Given the description of an element on the screen output the (x, y) to click on. 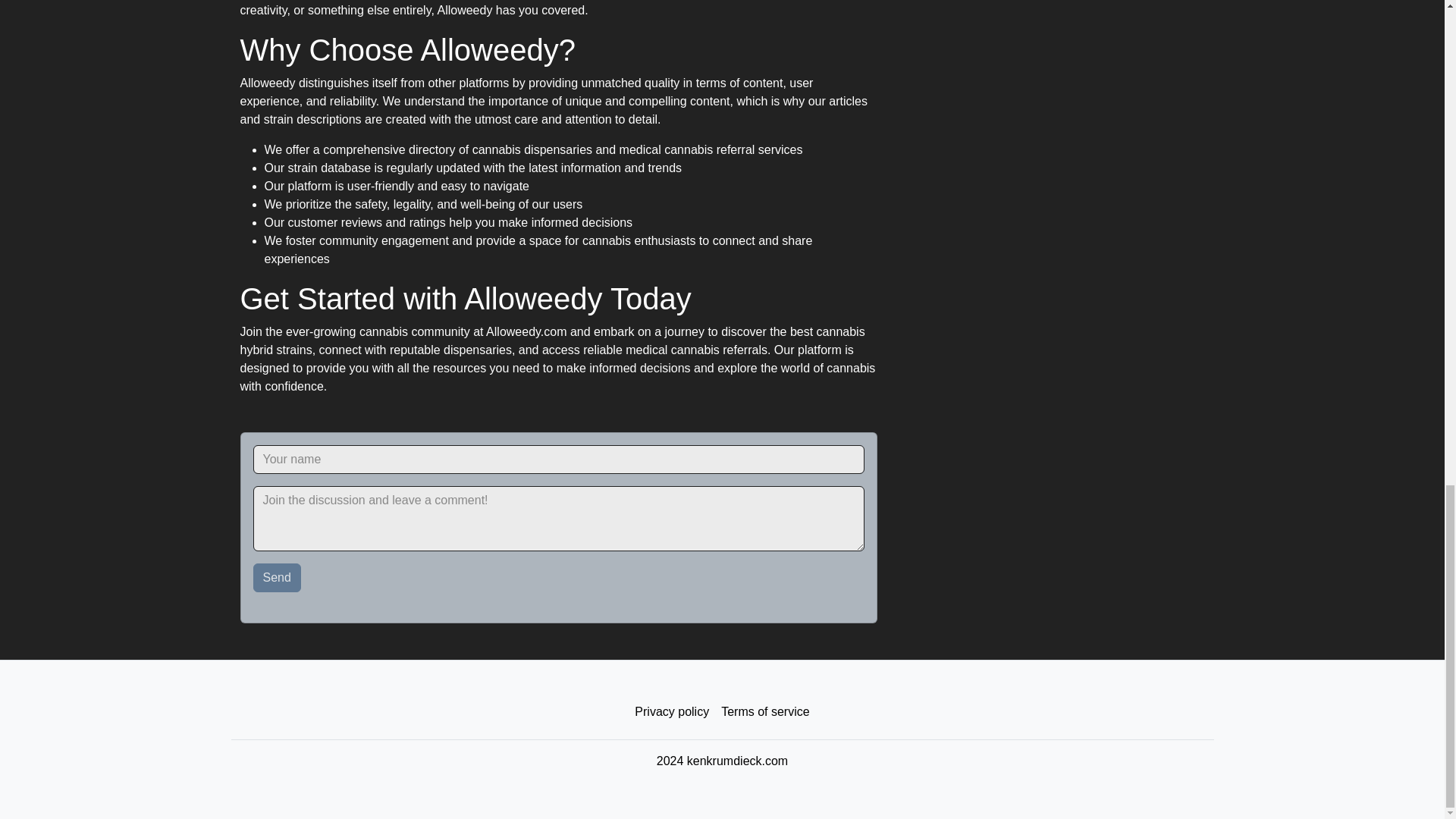
Privacy policy (671, 711)
Send (277, 577)
Terms of service (764, 711)
Send (277, 577)
